Given the description of an element on the screen output the (x, y) to click on. 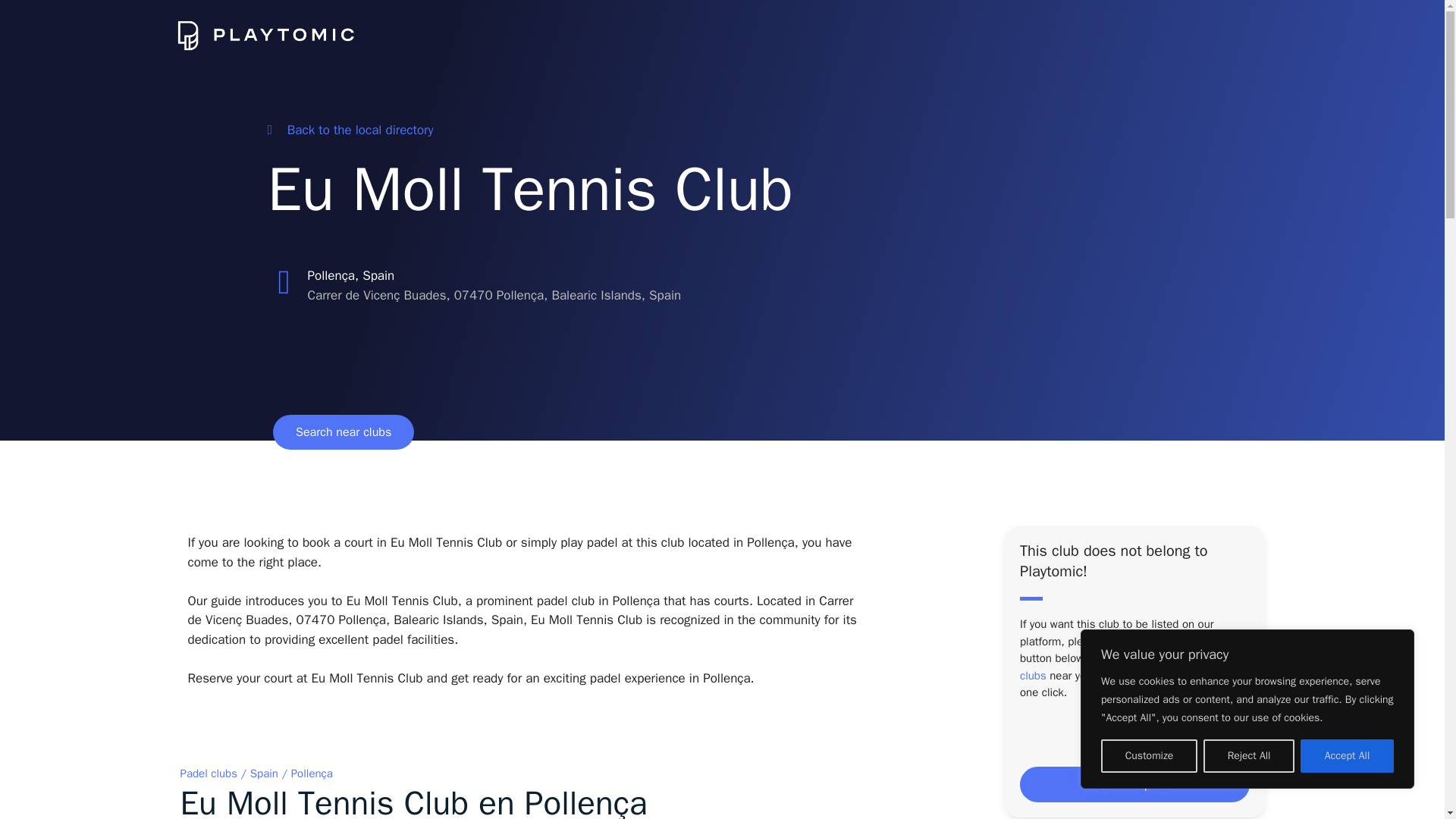
Accept All (1346, 756)
Back to the local directory (349, 130)
search for other clubs (1128, 666)
Spain (264, 773)
Send request (1134, 784)
Reject All (1249, 756)
Padel clubs (208, 773)
Customize (1148, 756)
Search near clubs (343, 431)
